Given the description of an element on the screen output the (x, y) to click on. 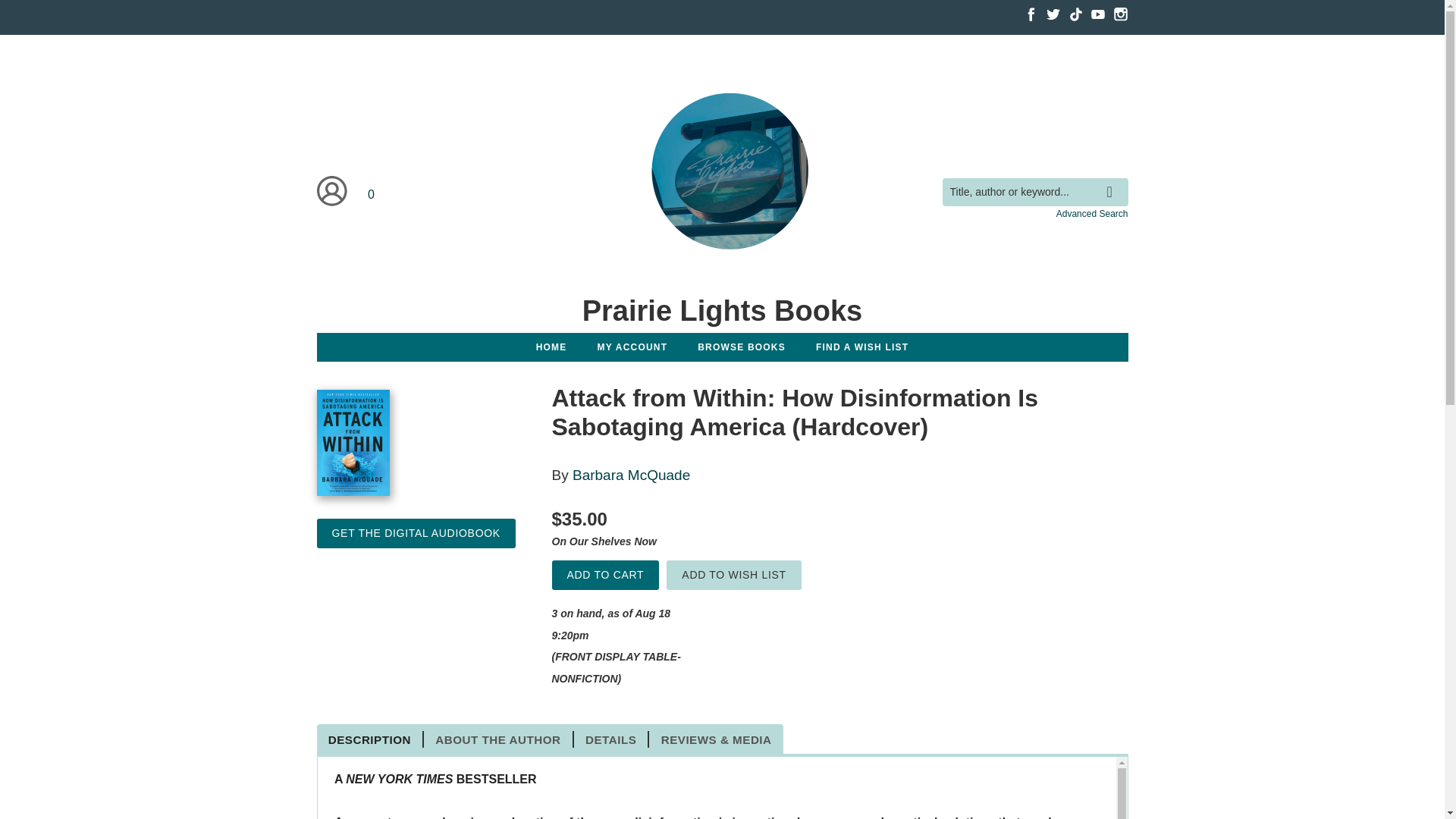
Get the Digital Audiobook (416, 532)
Add to Cart (605, 574)
Title, author or keyword... (1034, 192)
search (1112, 180)
Barbara McQuade (631, 474)
Add to Cart (605, 574)
ADD TO WISH LIST (733, 574)
HOME (551, 346)
Prairie Lights Books (721, 310)
